Given the description of an element on the screen output the (x, y) to click on. 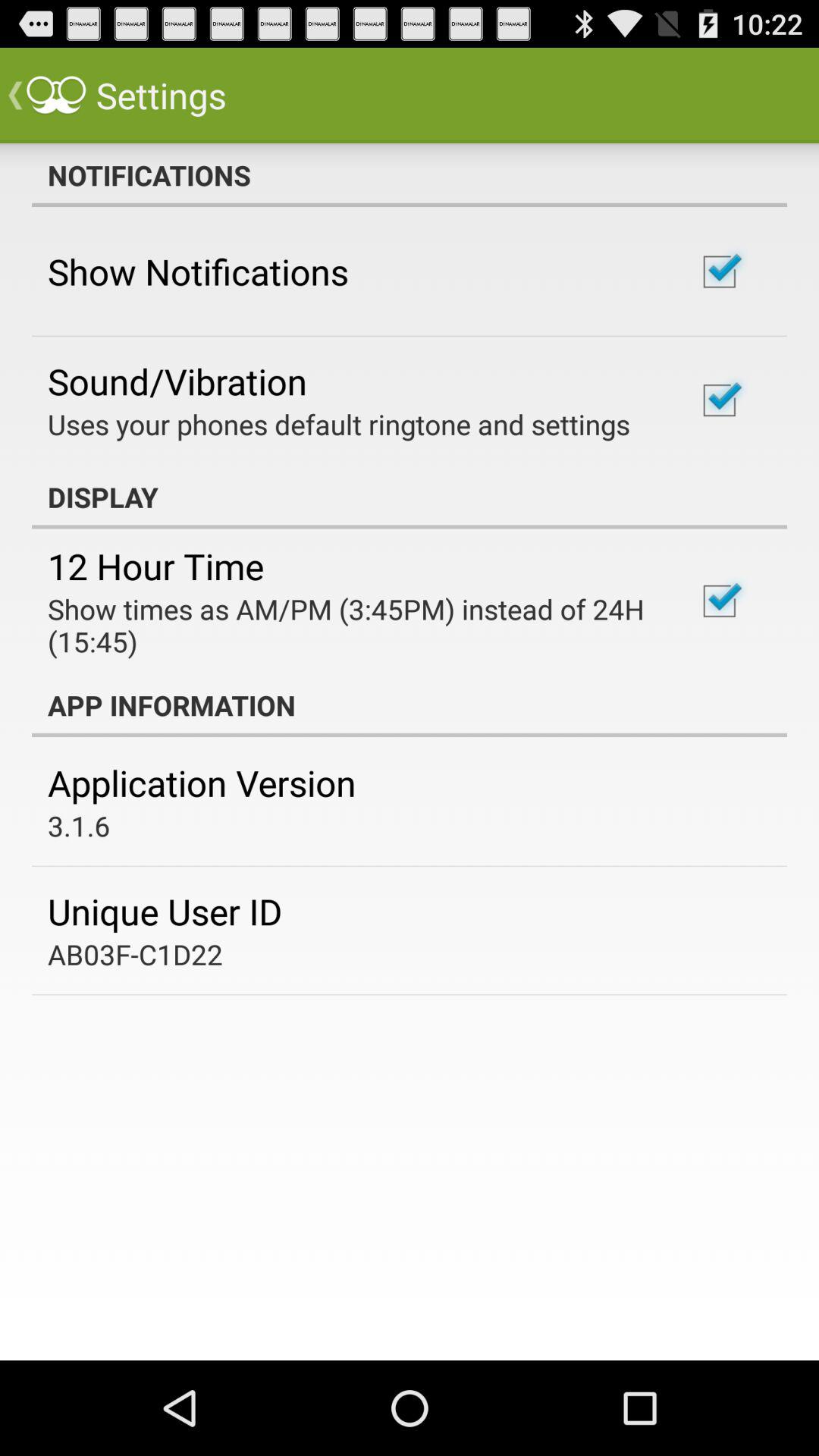
tap 3.1.6 (78, 825)
